Given the description of an element on the screen output the (x, y) to click on. 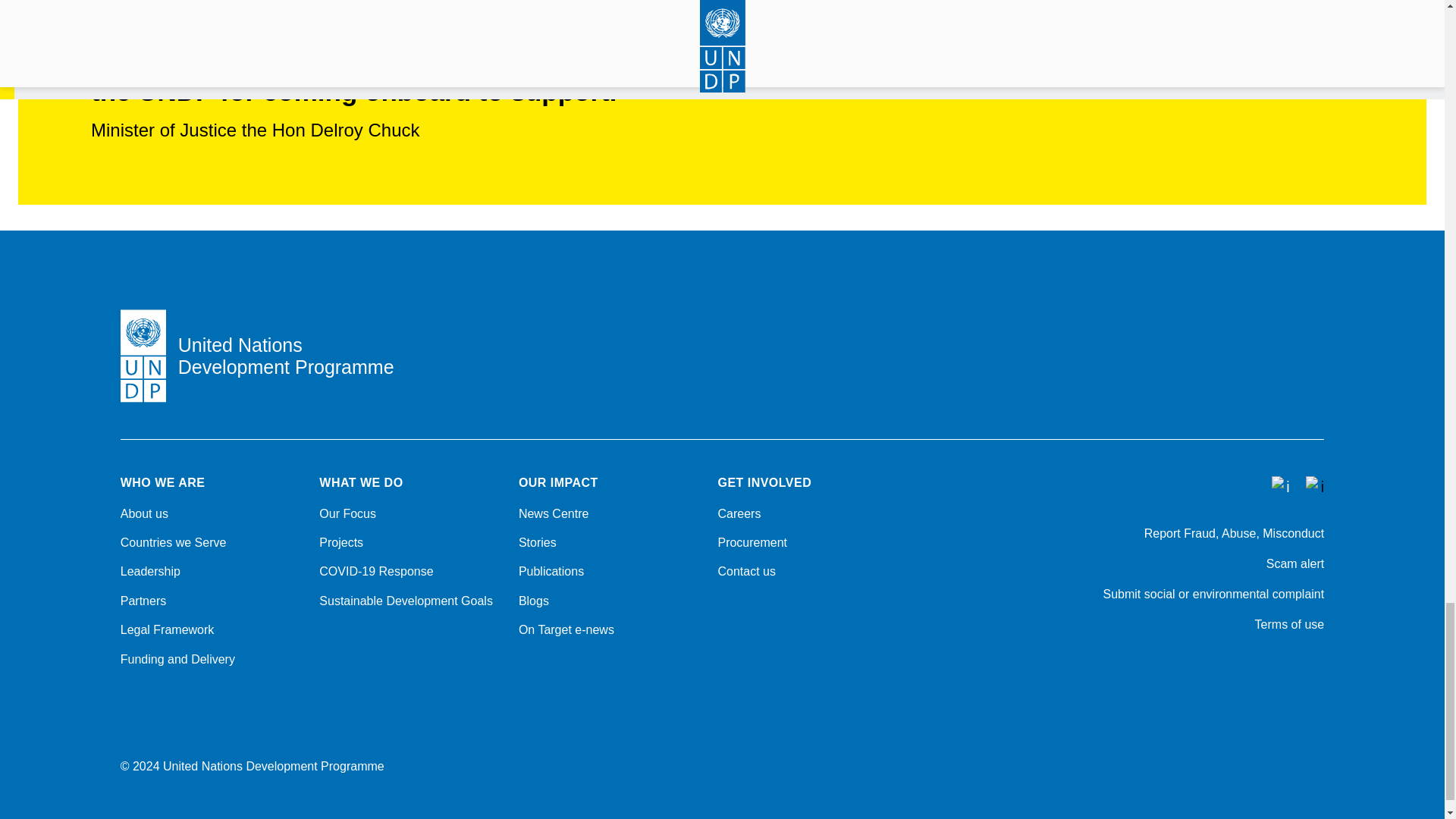
Leadership (210, 571)
Publications (609, 571)
Partners (210, 600)
On Target e-news (609, 629)
OUR IMPACT (609, 482)
About us (210, 514)
Blogs (609, 600)
Facebook (1198, 665)
Countries we Serve (210, 542)
Projects (409, 542)
